Given the description of an element on the screen output the (x, y) to click on. 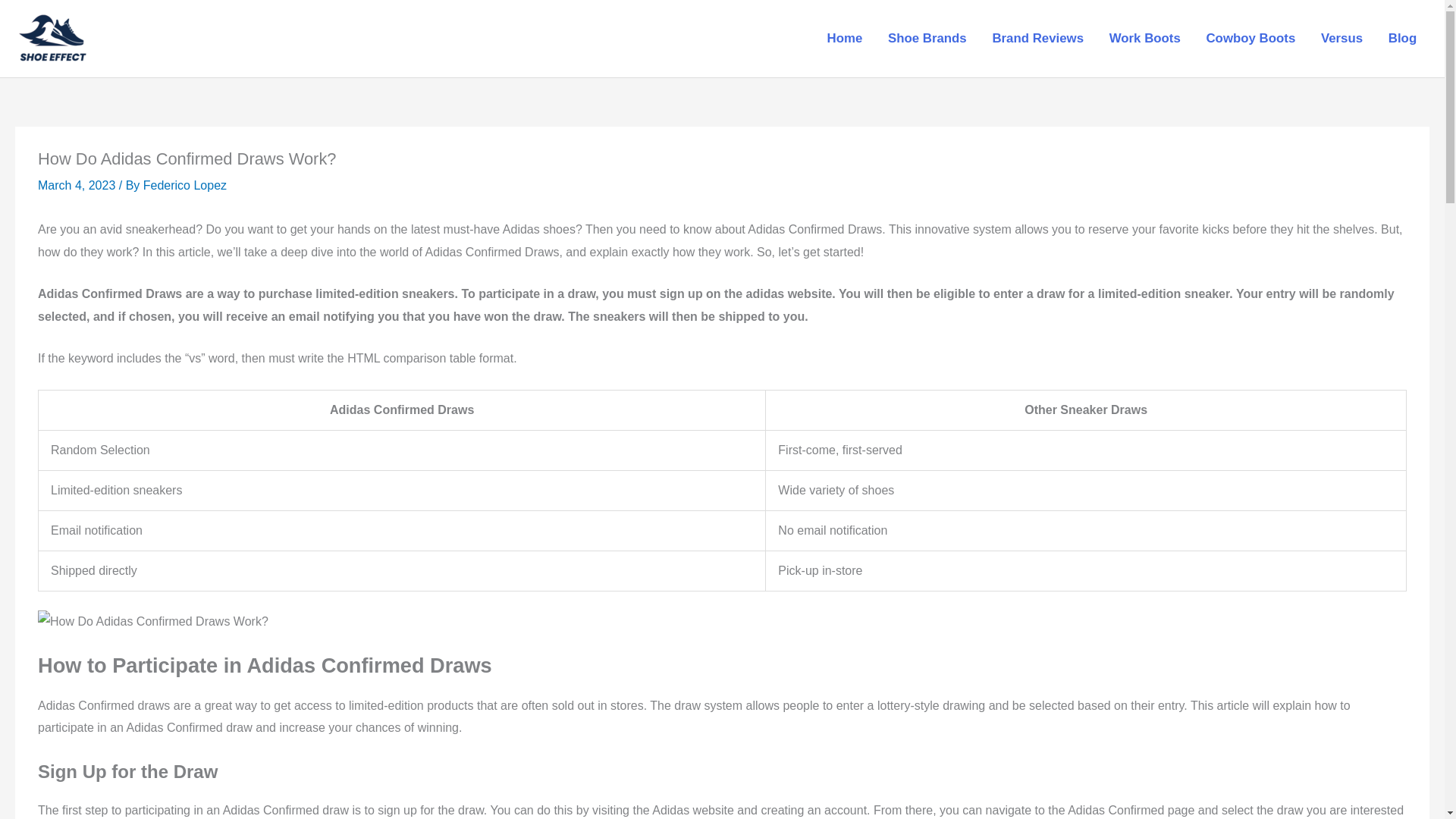
Home (844, 38)
Shoe Brands (926, 38)
Brand Reviews (1037, 38)
Cowboy Boots (1250, 38)
Federico Lopez (184, 185)
View all posts by Federico Lopez (184, 185)
Blog (1402, 38)
Versus (1341, 38)
Work Boots (1144, 38)
